Given the description of an element on the screen output the (x, y) to click on. 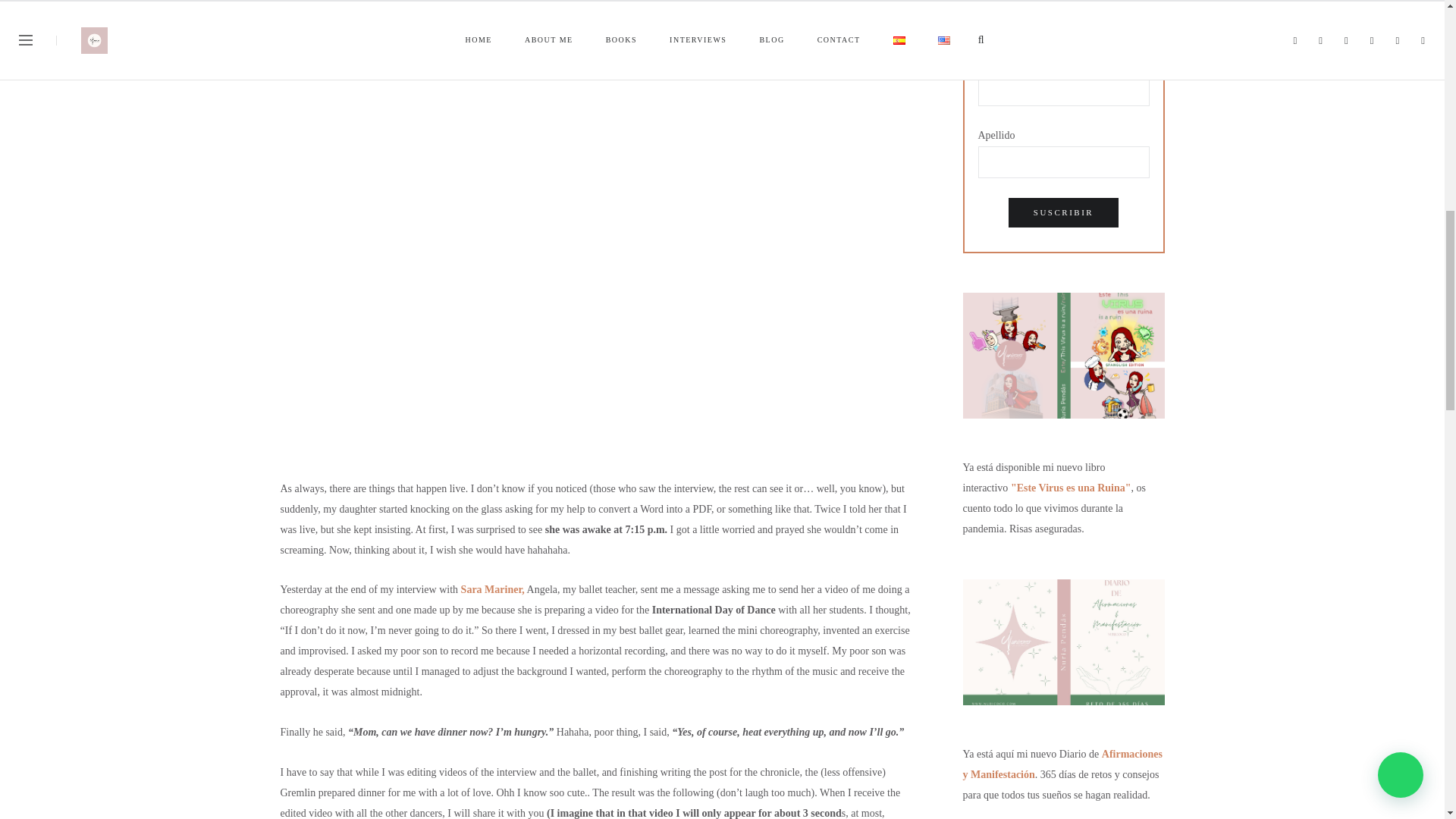
Suscribir (1063, 212)
